Given the description of an element on the screen output the (x, y) to click on. 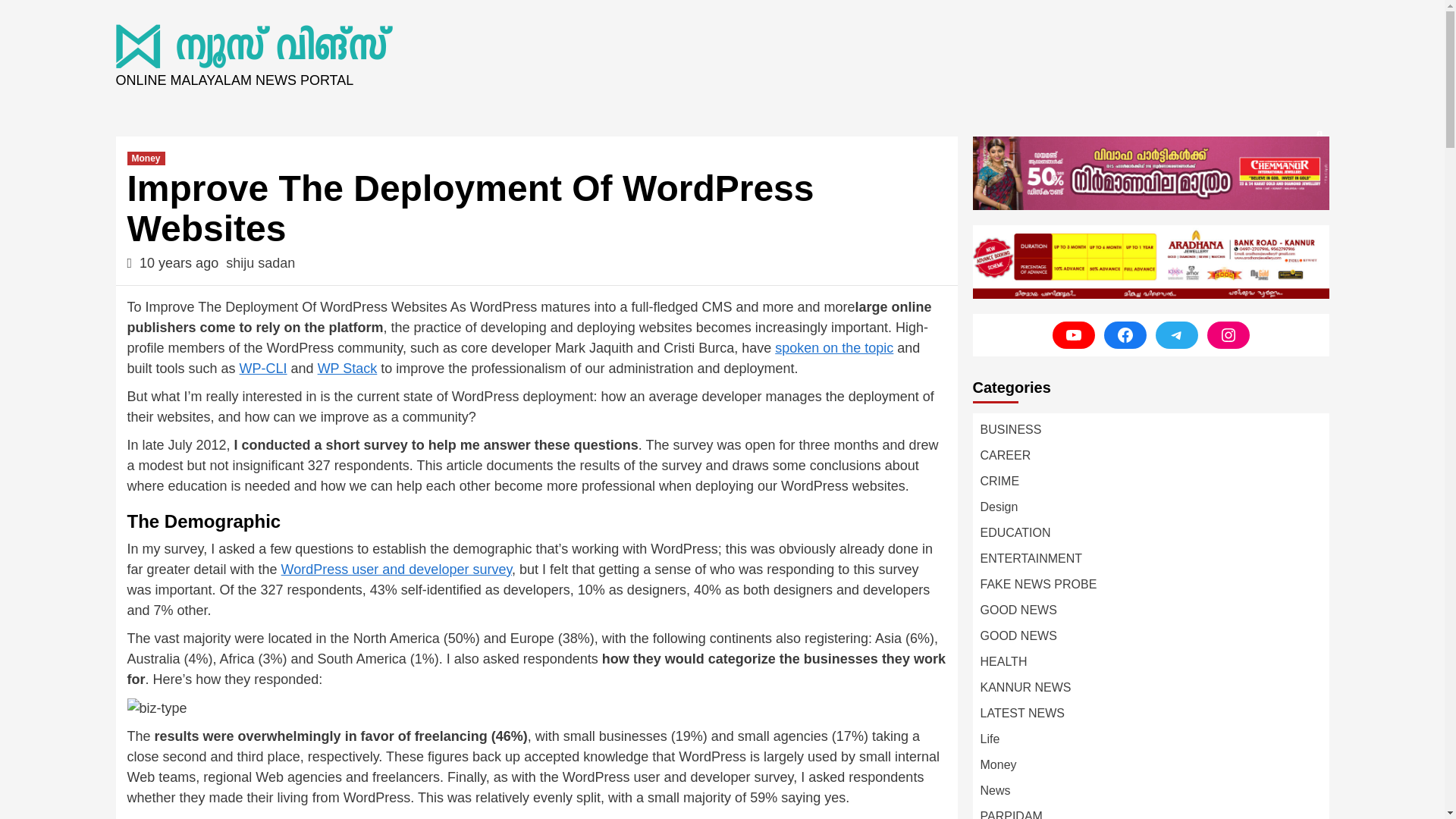
WP Stack (347, 368)
shiju sadan (260, 263)
YouTube (1073, 334)
BUSINESS (1010, 429)
Search (1283, 185)
Facebook (1125, 334)
WP-CLI (263, 368)
Telegram (1177, 334)
Money (146, 158)
Instagram (1228, 334)
